Given the description of an element on the screen output the (x, y) to click on. 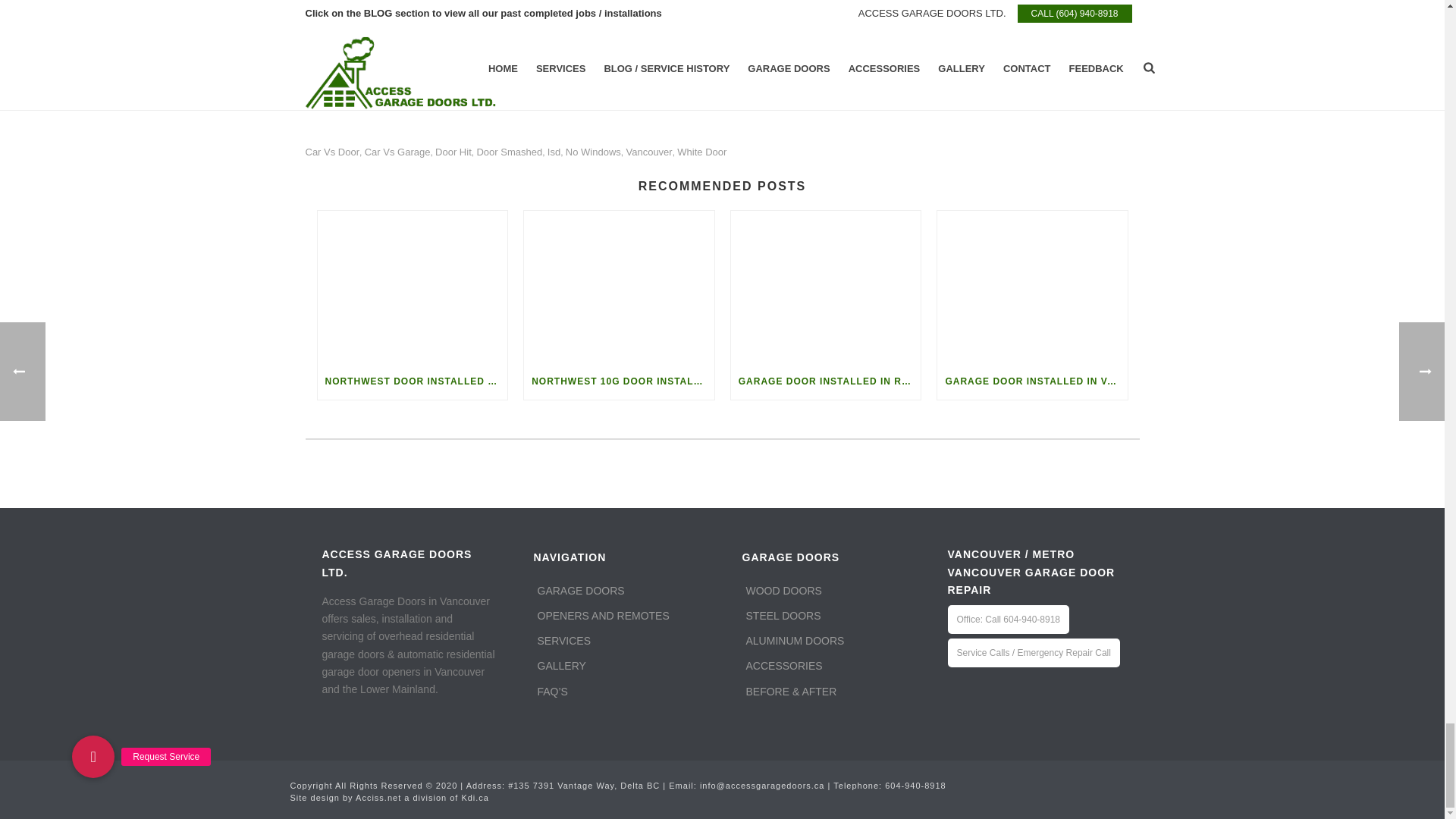
Northwest 10G Door Installed in Richmond (619, 286)
Northwest Door Installed in Vancouver (411, 286)
Garage Door Installed in Richmond (825, 286)
Garage Door Installed in Vancouver (1031, 286)
